Given the description of an element on the screen output the (x, y) to click on. 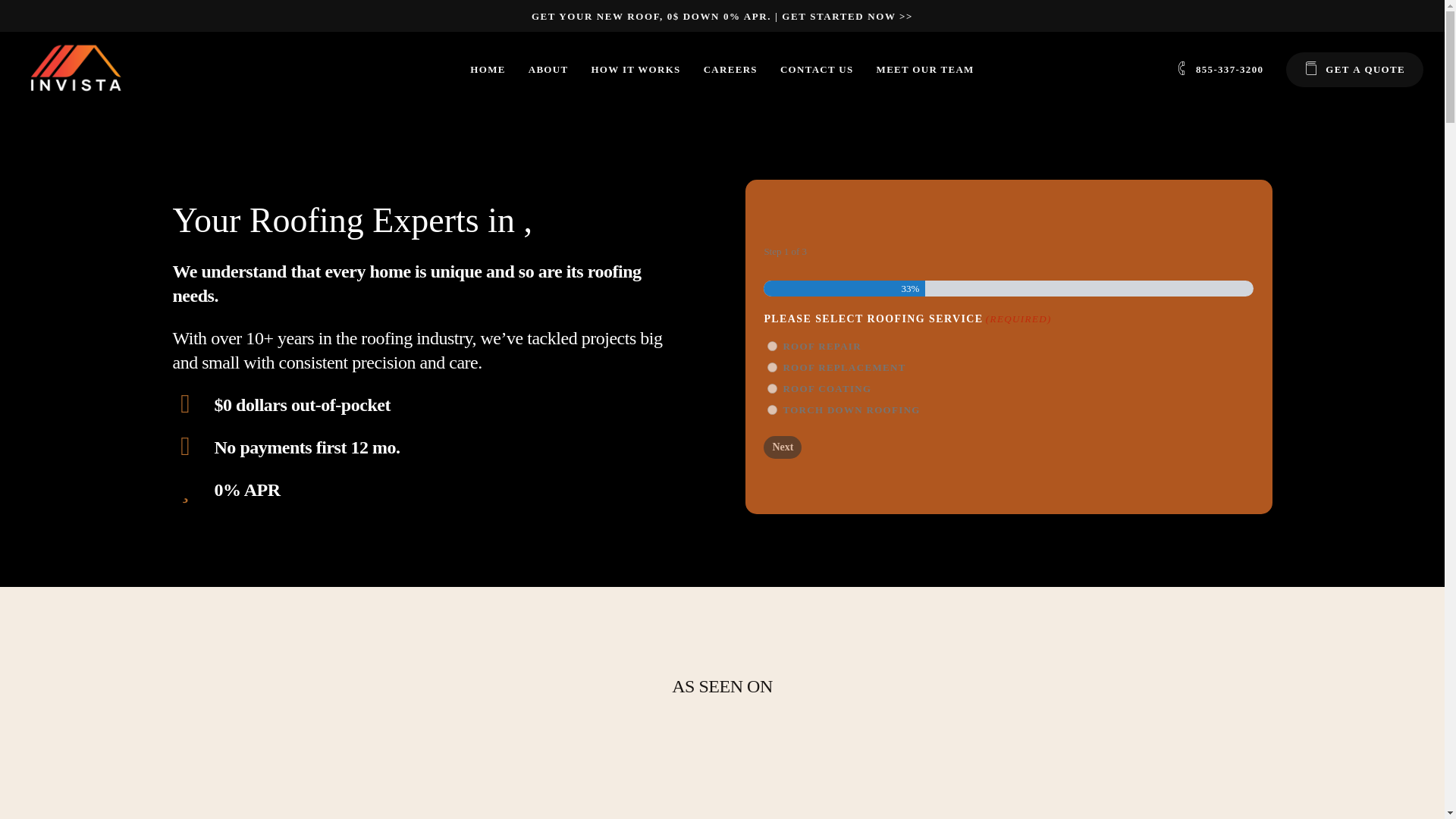
HOW IT WORKS (635, 69)
ABOUT (548, 69)
CAREERS (730, 69)
Roof Coating (772, 388)
HOME (487, 69)
GET A QUOTE (1354, 68)
Torch Down Roofing (772, 409)
Roof Repair (772, 346)
CONTACT US (816, 69)
MEET OUR TEAM (925, 69)
